Given the description of an element on the screen output the (x, y) to click on. 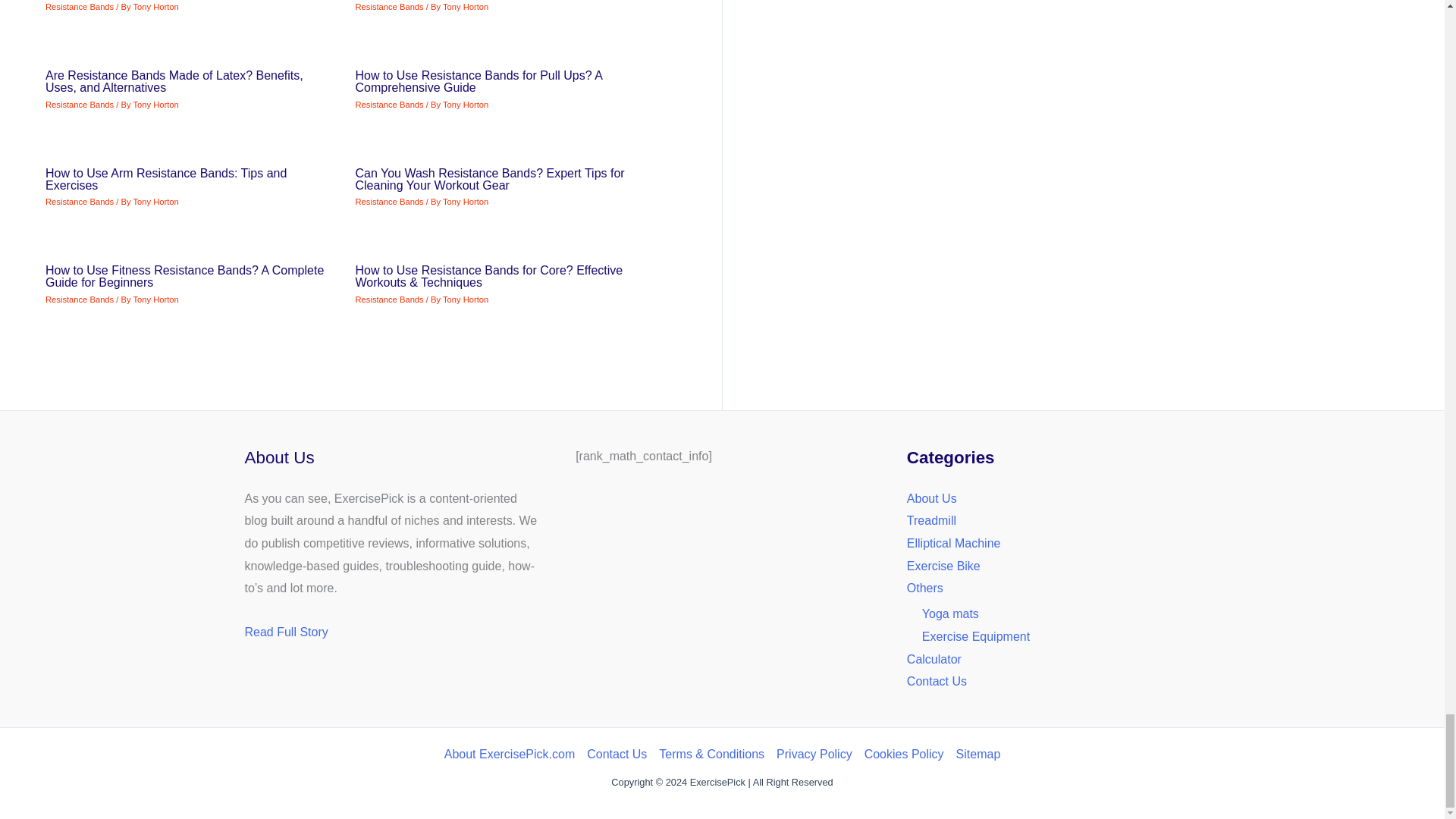
View all posts by Tony Horton (464, 298)
View all posts by Tony Horton (154, 6)
View all posts by Tony Horton (154, 298)
View all posts by Tony Horton (464, 103)
View all posts by Tony Horton (464, 6)
View all posts by Tony Horton (154, 201)
View all posts by Tony Horton (464, 201)
View all posts by Tony Horton (154, 103)
